Given the description of an element on the screen output the (x, y) to click on. 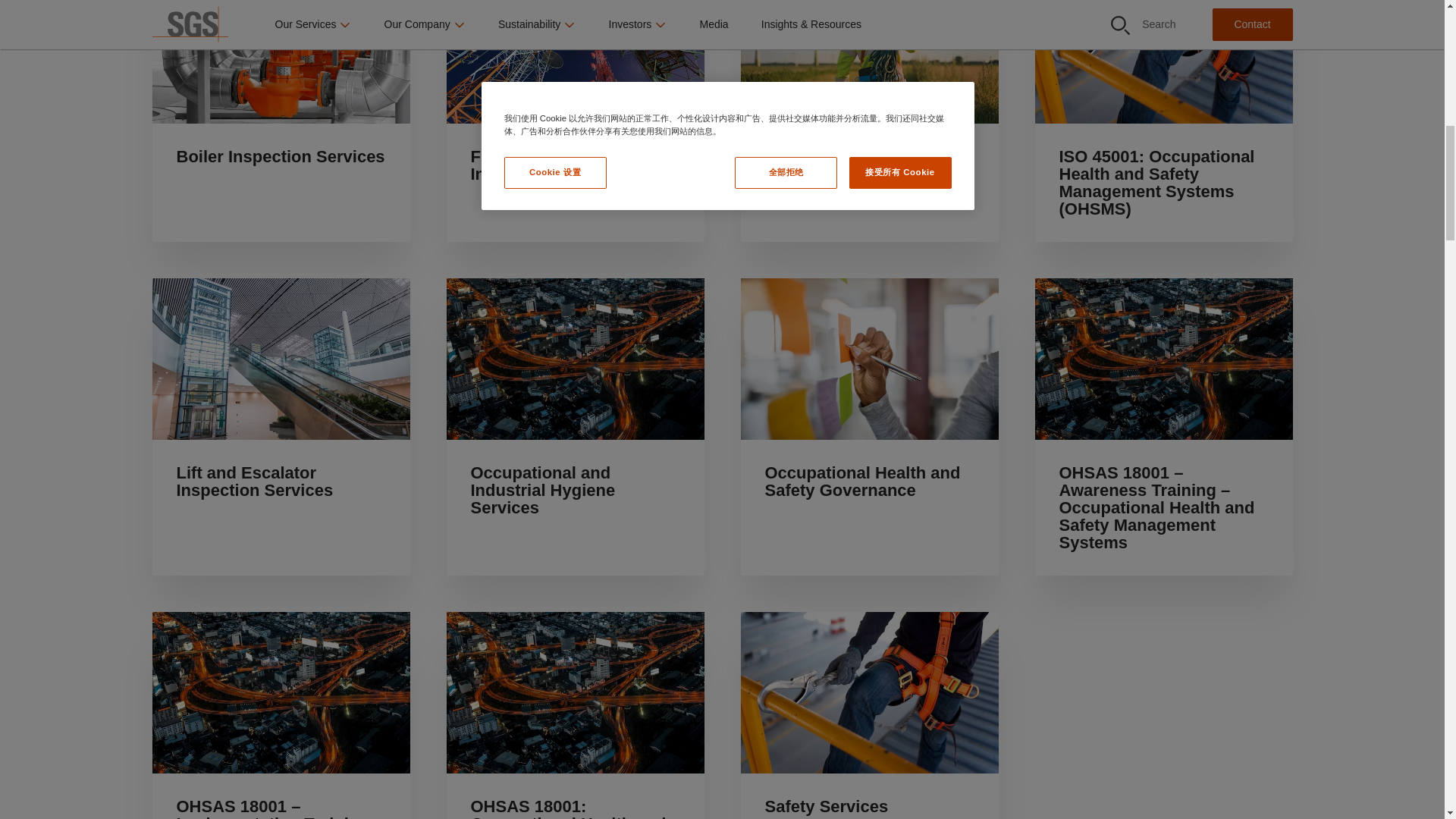
Fixed Electrical Installations (574, 120)
Health, Safety and Environment Management HSE (868, 120)
Occupational Health and Safety Governance (868, 426)
Safety Services (868, 715)
Lift and Escalator Inspection Services (280, 426)
Occupational and Industrial Hygiene Services (574, 426)
Boiler Inspection Services (280, 120)
